Given the description of an element on the screen output the (x, y) to click on. 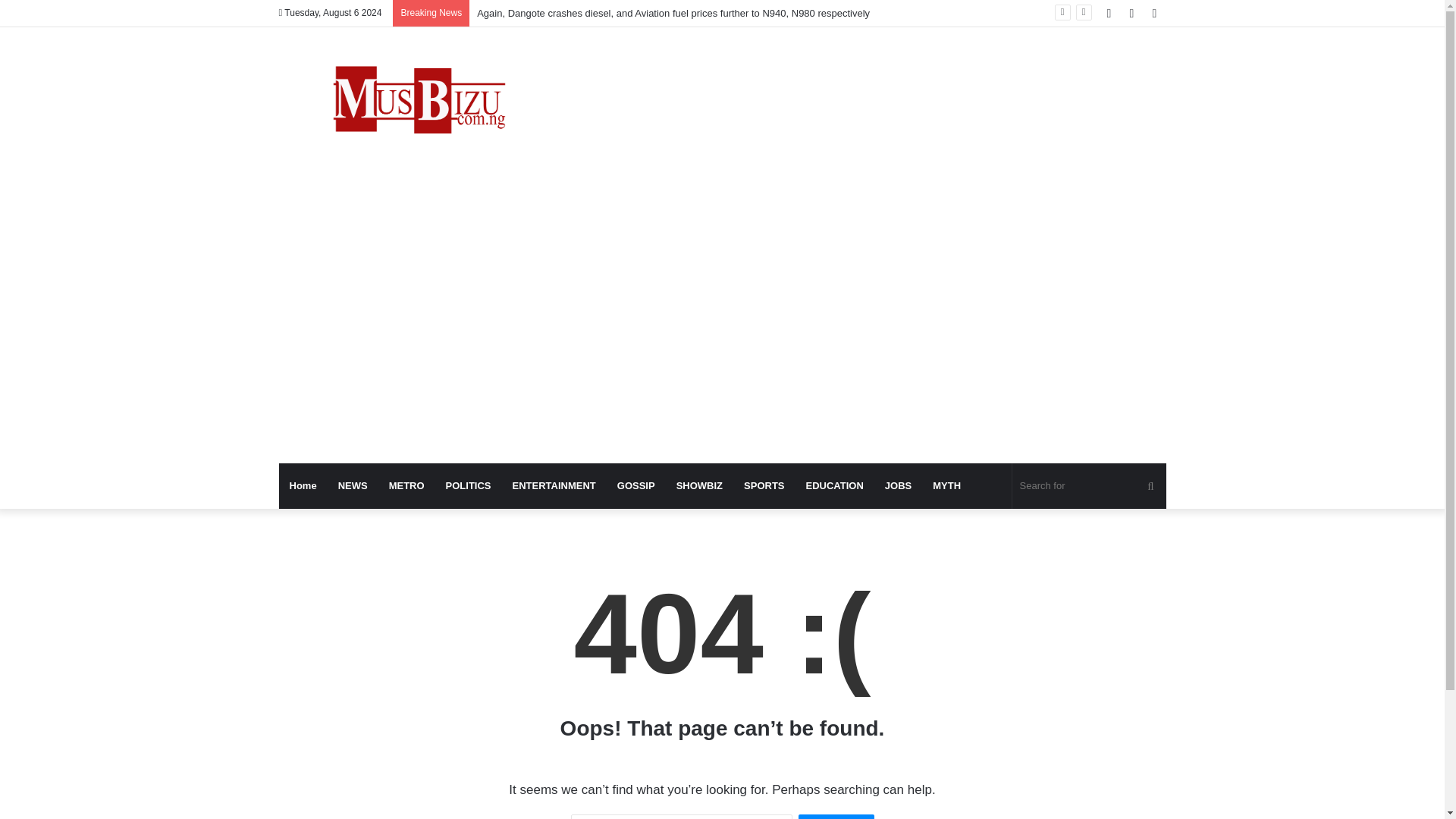
GOSSIP (636, 485)
EDUCATION (834, 485)
POLITICS (468, 485)
ENTERTAINMENT (554, 485)
SPORTS (763, 485)
Search (835, 816)
Home (303, 485)
Search for (1088, 485)
NEWS (352, 485)
